Given the description of an element on the screen output the (x, y) to click on. 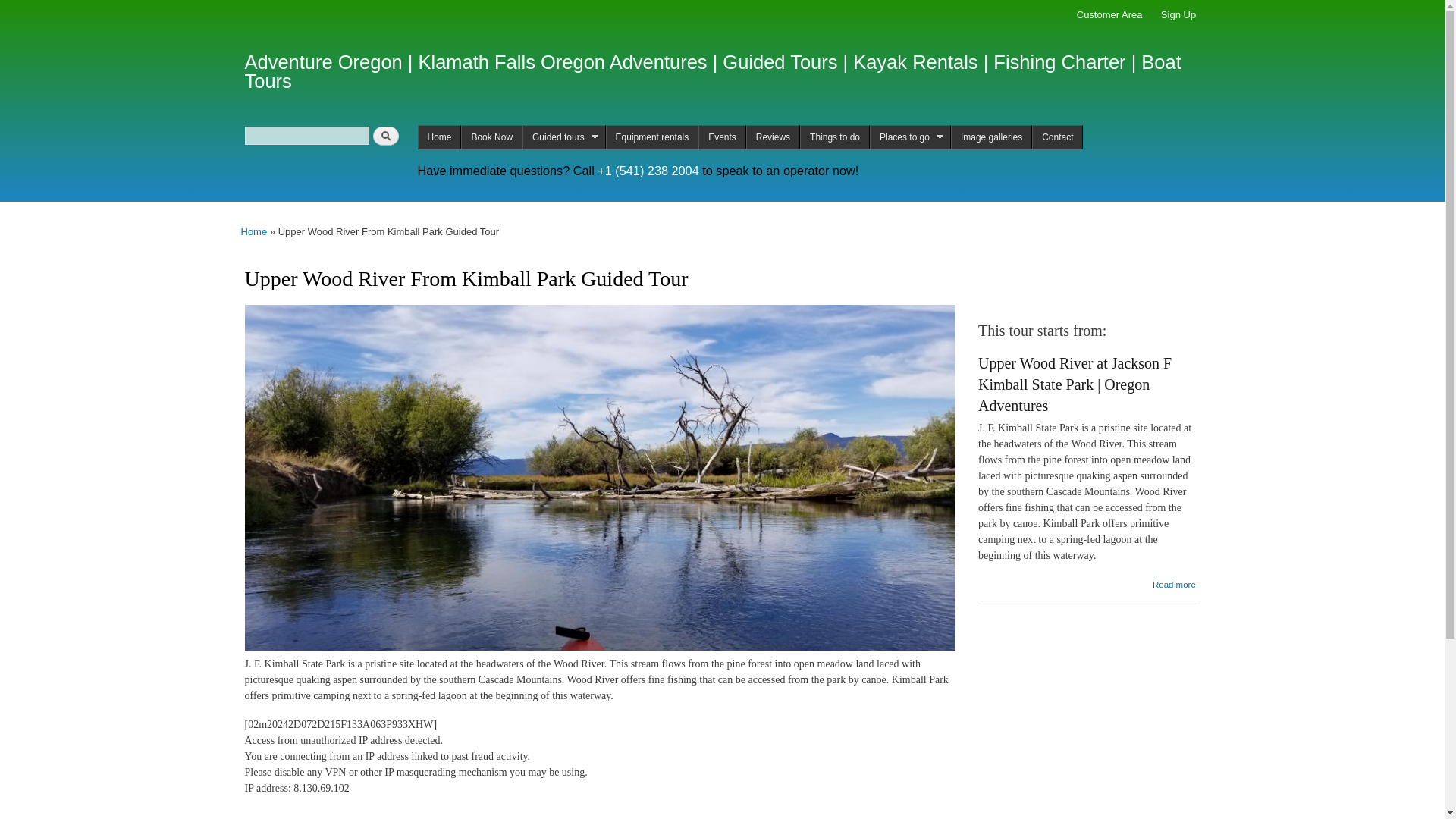
Home (712, 71)
Sign Up (1178, 15)
Home (438, 137)
Contact (1057, 137)
Reviews (772, 137)
Customer Area (1109, 15)
Things to do (834, 137)
Enter the terms you wish to search for. (306, 135)
Events (721, 137)
View a list of guided tours offered by Adventure Oregon! (563, 137)
Home (254, 231)
Book Now (491, 137)
Skip to main content (690, 1)
Image galleries (991, 137)
Search (385, 135)
